Given the description of an element on the screen output the (x, y) to click on. 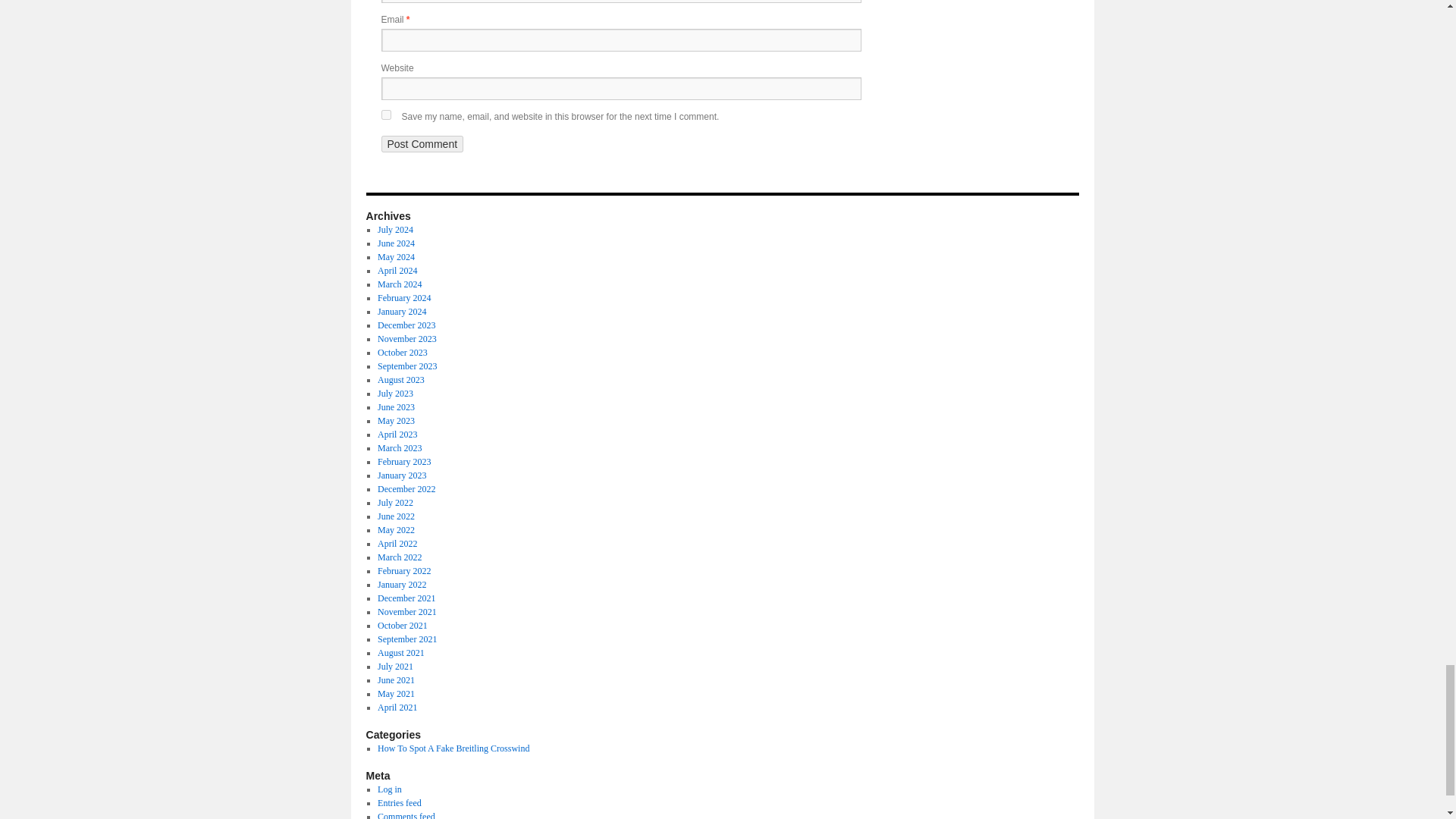
October 2023 (402, 352)
January 2024 (401, 311)
July 2023 (395, 393)
July 2024 (395, 229)
May 2024 (395, 256)
May 2023 (395, 420)
Post Comment (421, 143)
February 2024 (403, 297)
August 2023 (401, 379)
November 2023 (406, 338)
September 2023 (406, 366)
June 2023 (395, 407)
March 2024 (399, 284)
April 2023 (396, 434)
June 2024 (395, 243)
